Given the description of an element on the screen output the (x, y) to click on. 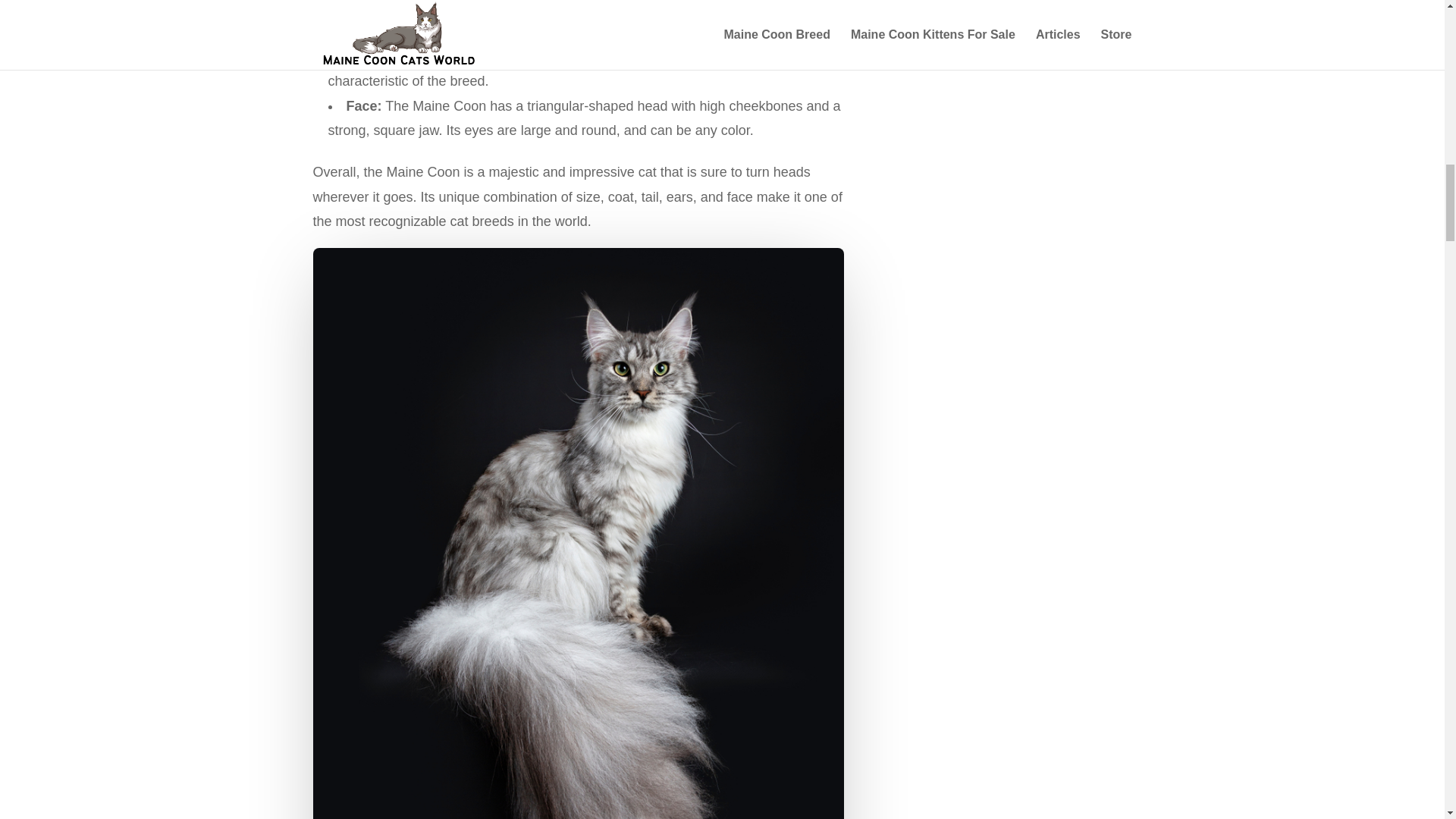
lynx tips (620, 56)
lynx tips (620, 56)
